Given the description of an element on the screen output the (x, y) to click on. 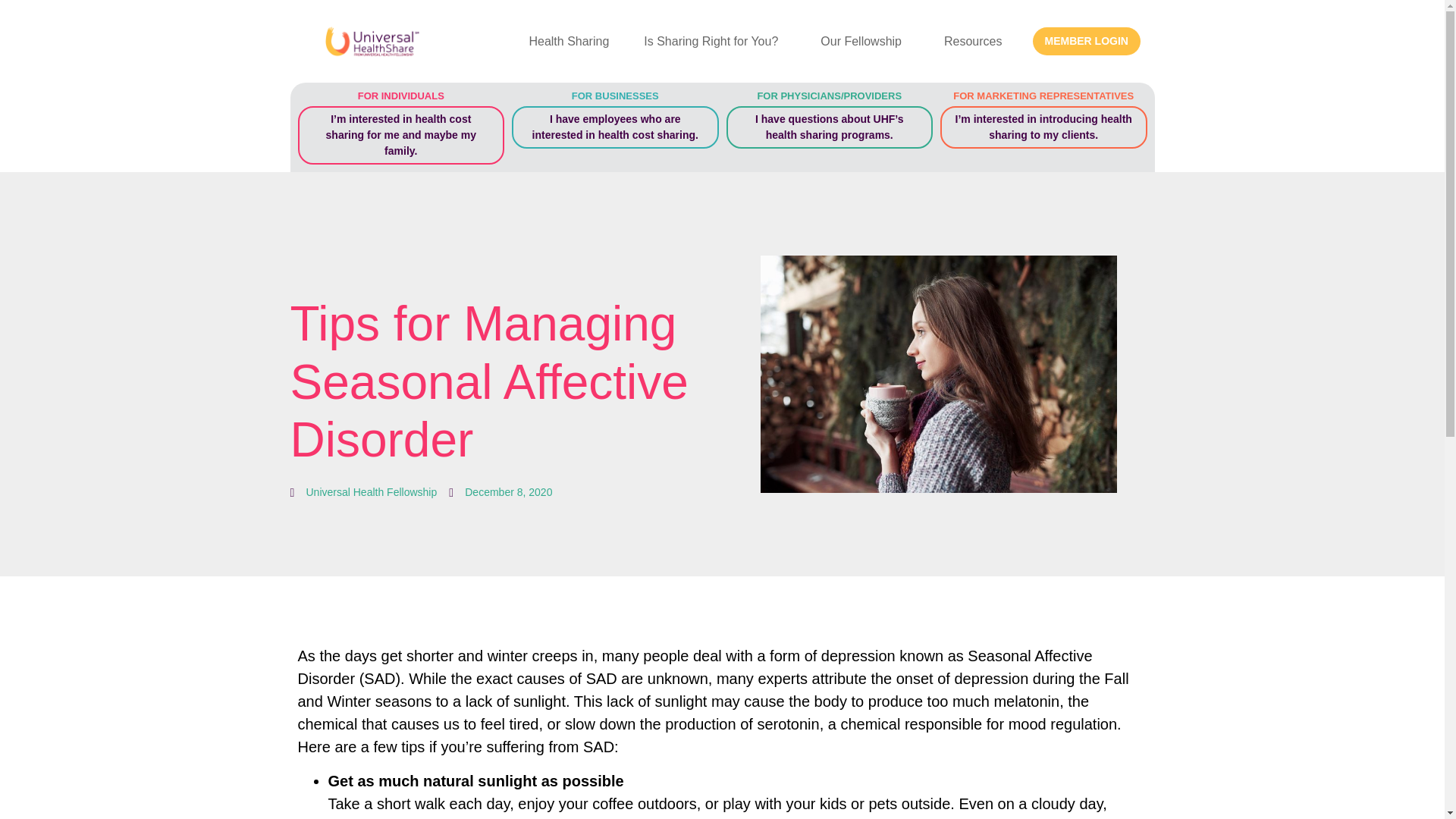
Is Sharing Right for You? (714, 41)
Our Fellowship (864, 41)
Health Sharing (568, 41)
Universal HealthShare (376, 41)
MEMBER LOGIN (1086, 41)
Resources (976, 41)
